Given the description of an element on the screen output the (x, y) to click on. 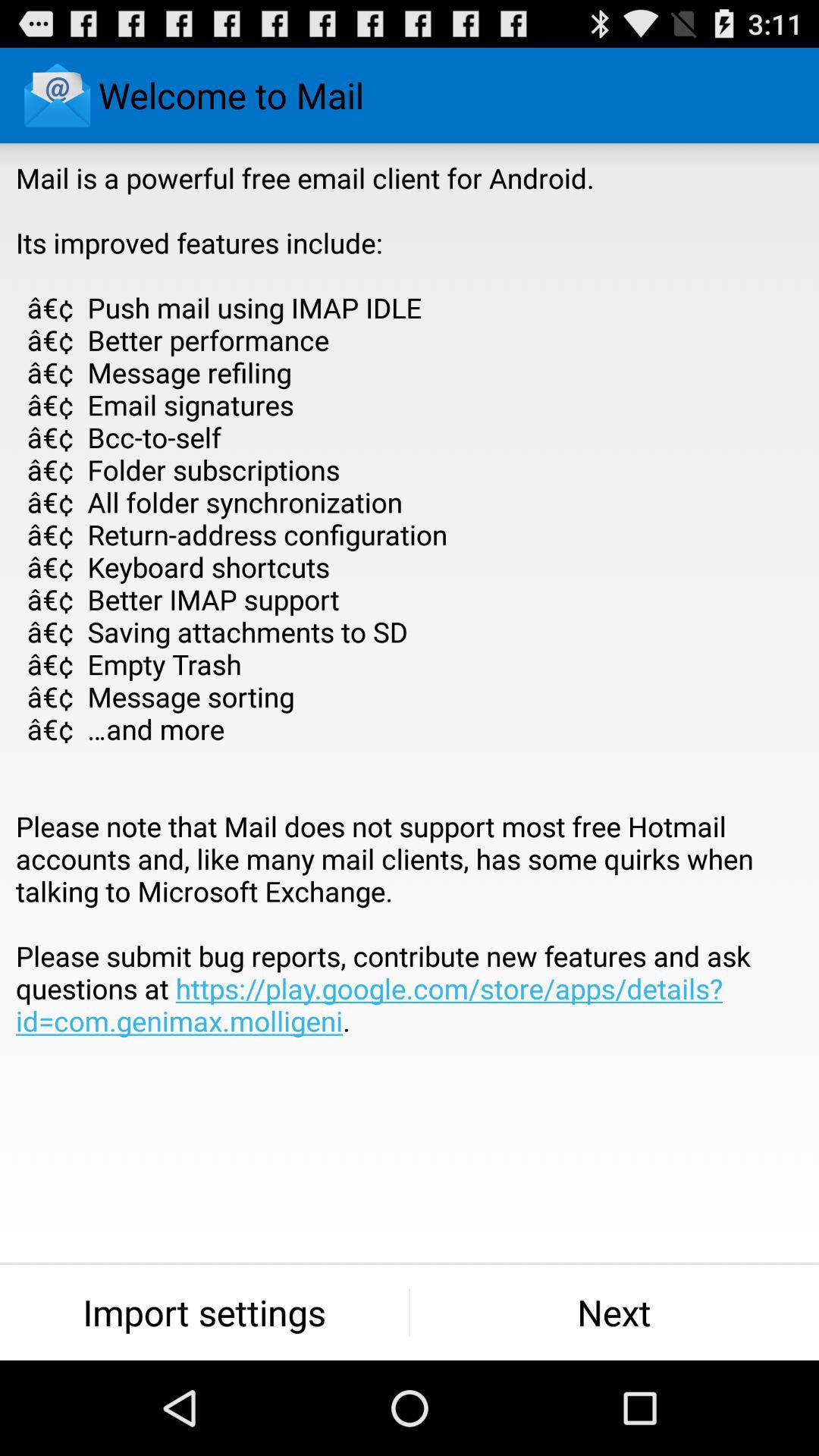
scroll until import settings (204, 1312)
